Given the description of an element on the screen output the (x, y) to click on. 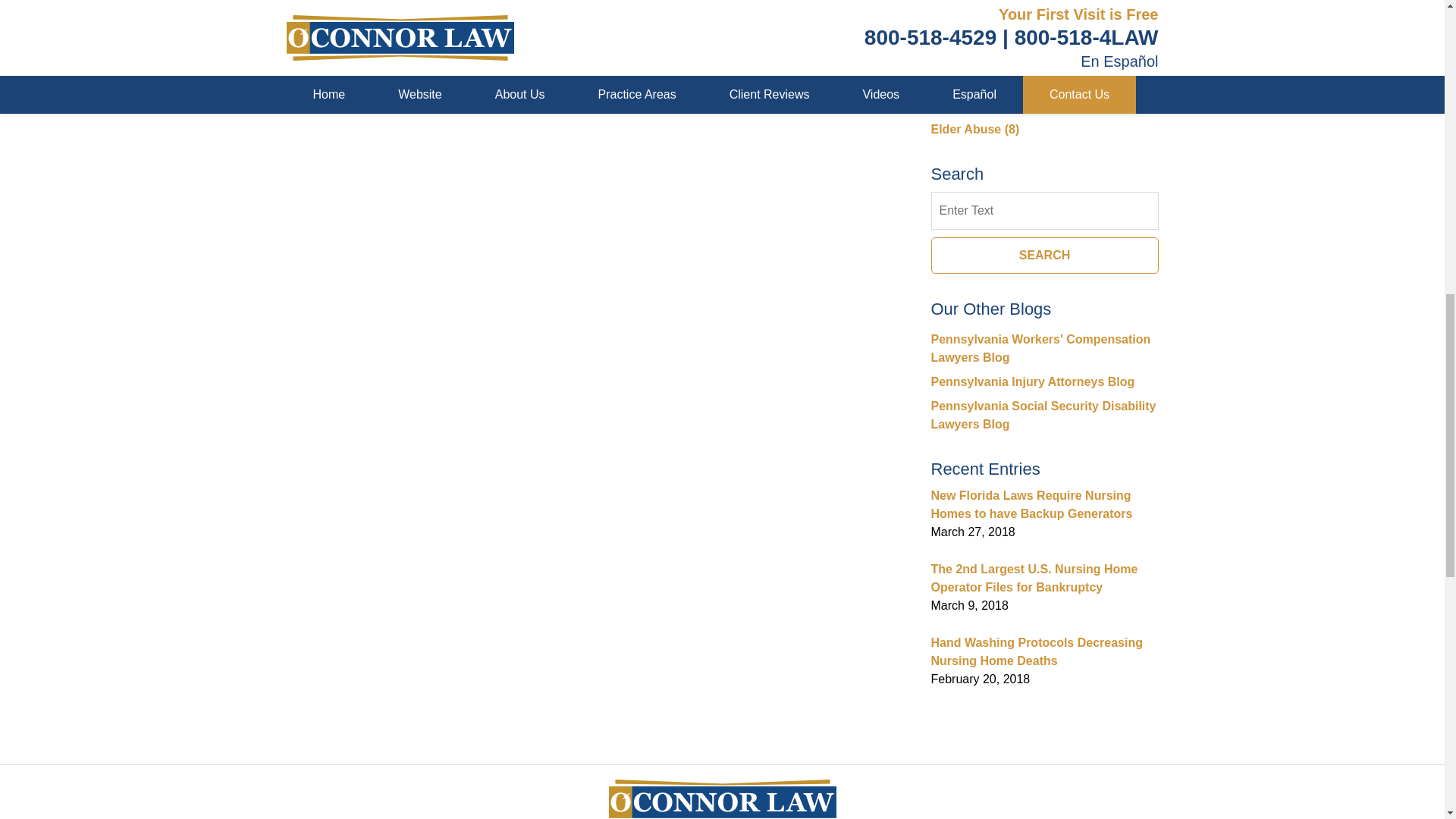
Home (377, 4)
A Look at a Different Type of Nursing Home: Beatitudes (424, 4)
New Management Company Chosen for Gracedale Nursing Home (318, 4)
